Given the description of an element on the screen output the (x, y) to click on. 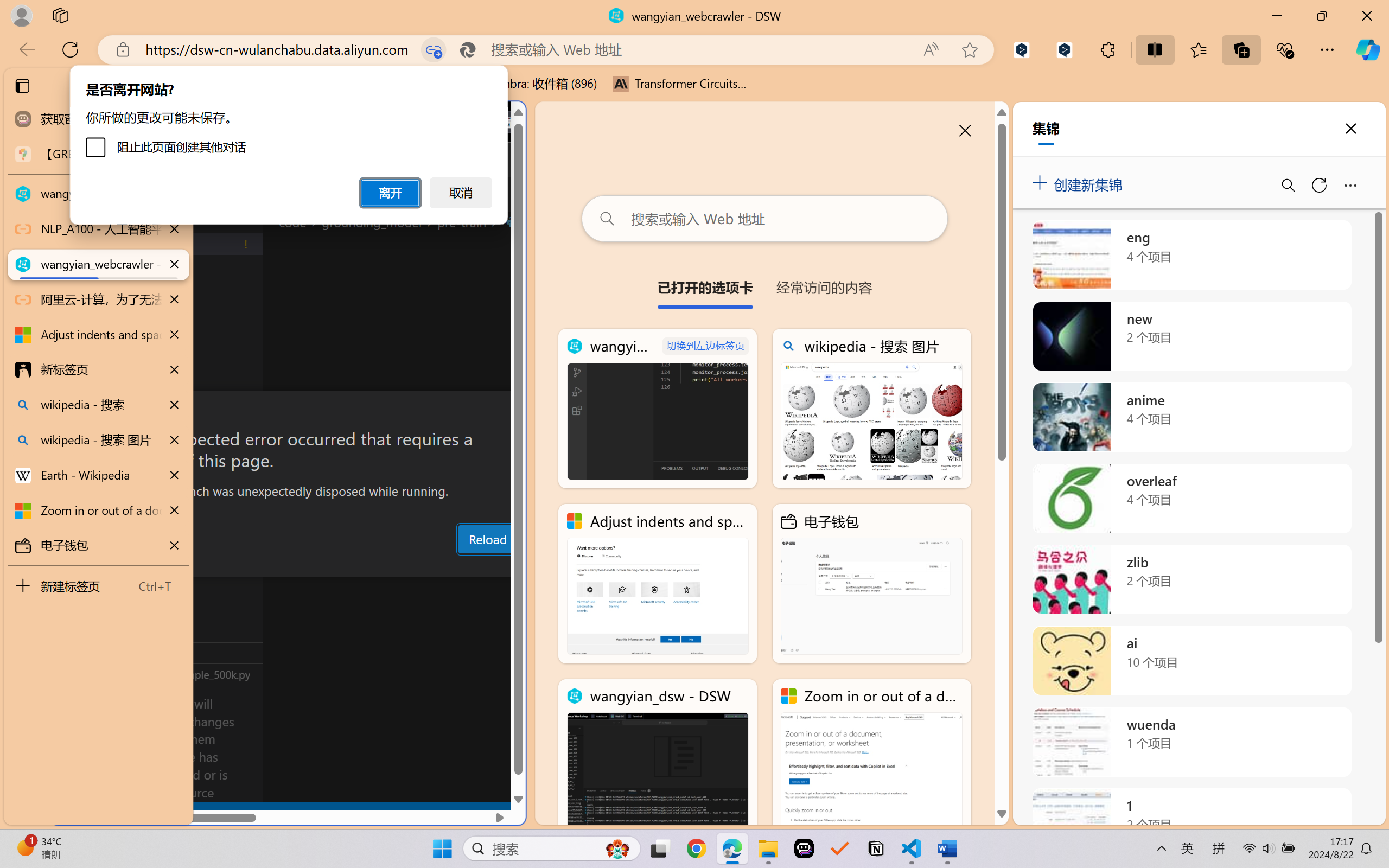
Earth - Wikipedia (97, 475)
